Given the description of an element on the screen output the (x, y) to click on. 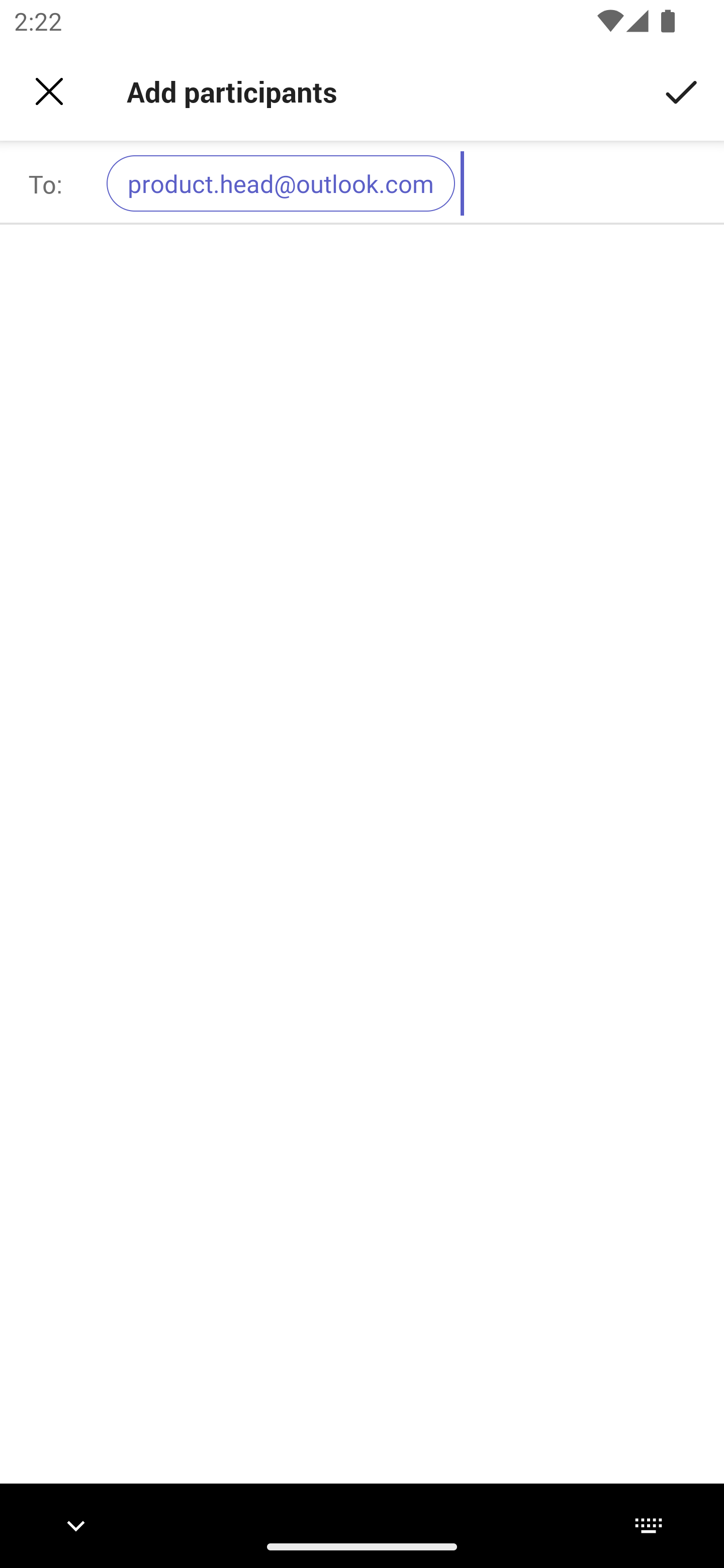
Back (49, 91)
Submit (681, 90)
Add users product.head@outlook.com (407, 183)
